Given the description of an element on the screen output the (x, y) to click on. 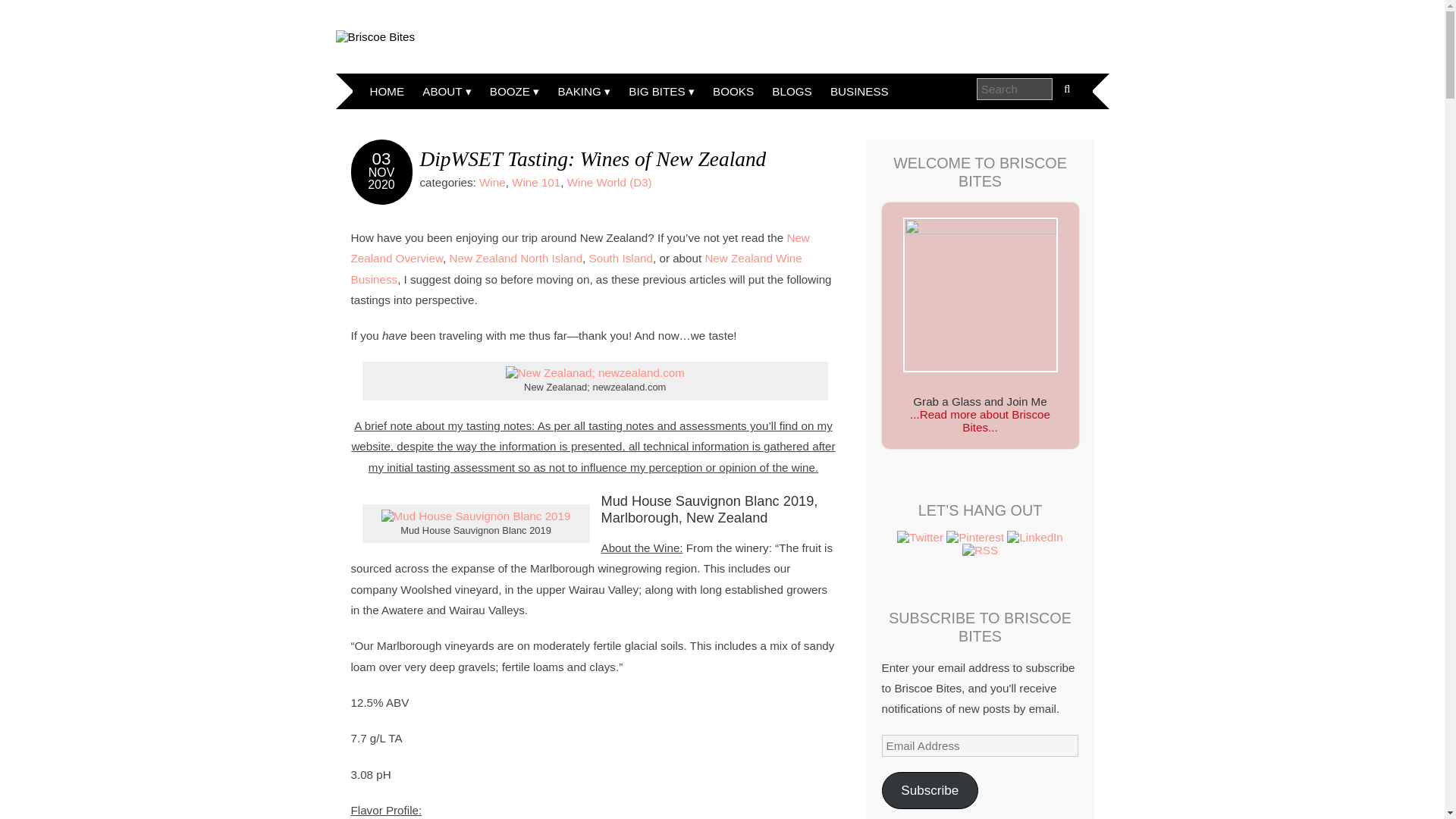
BIG BITES (661, 90)
BOOKS (732, 90)
Pinterest (975, 536)
BAKING (583, 90)
New Zealand Overview (579, 247)
BLOGS (791, 90)
LinkedIn (1034, 536)
Instagram (979, 549)
Twitter (919, 536)
HOME (387, 90)
